Given the description of an element on the screen output the (x, y) to click on. 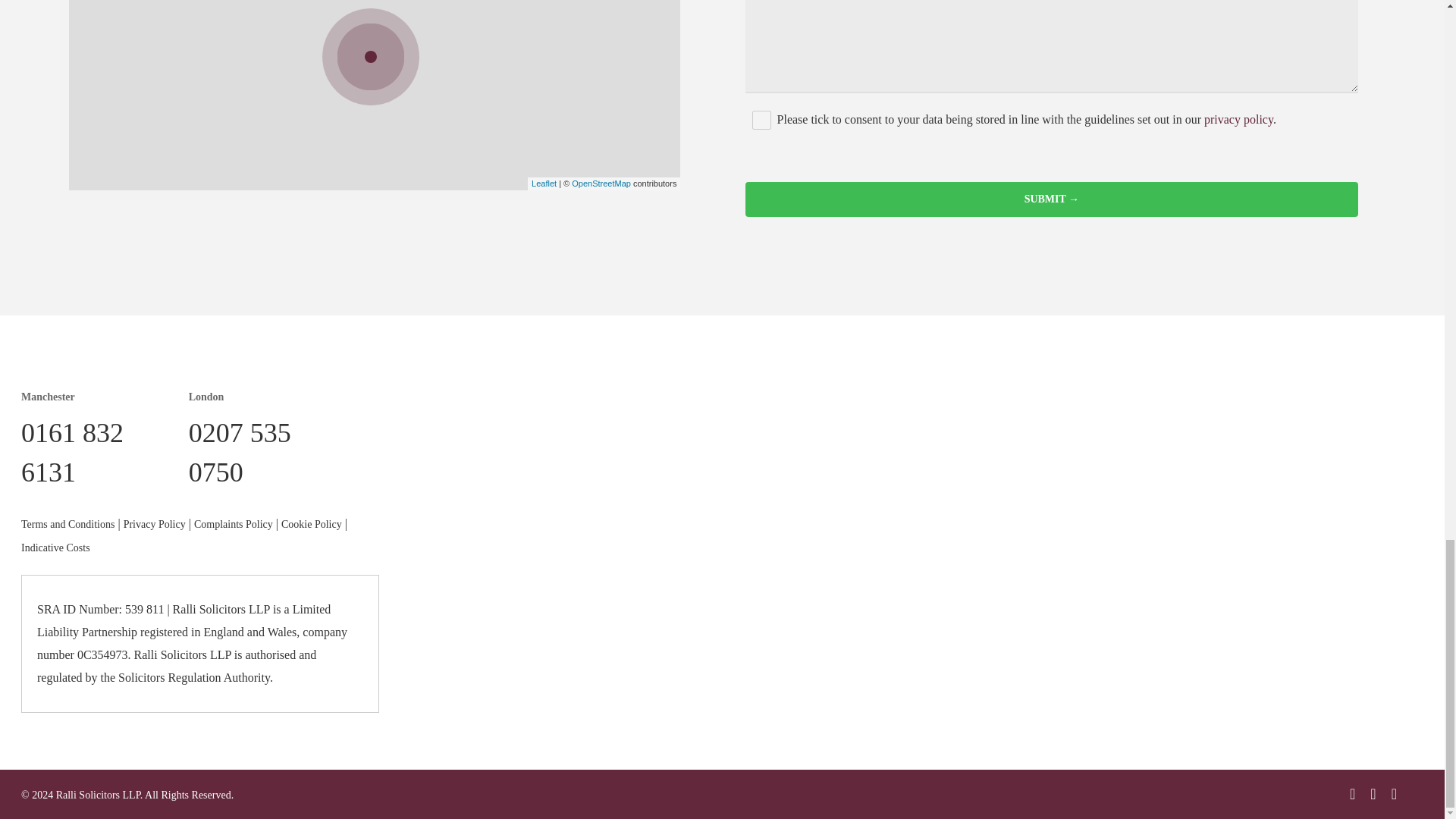
A JS library for interactive maps (543, 183)
1 (761, 119)
